Given the description of an element on the screen output the (x, y) to click on. 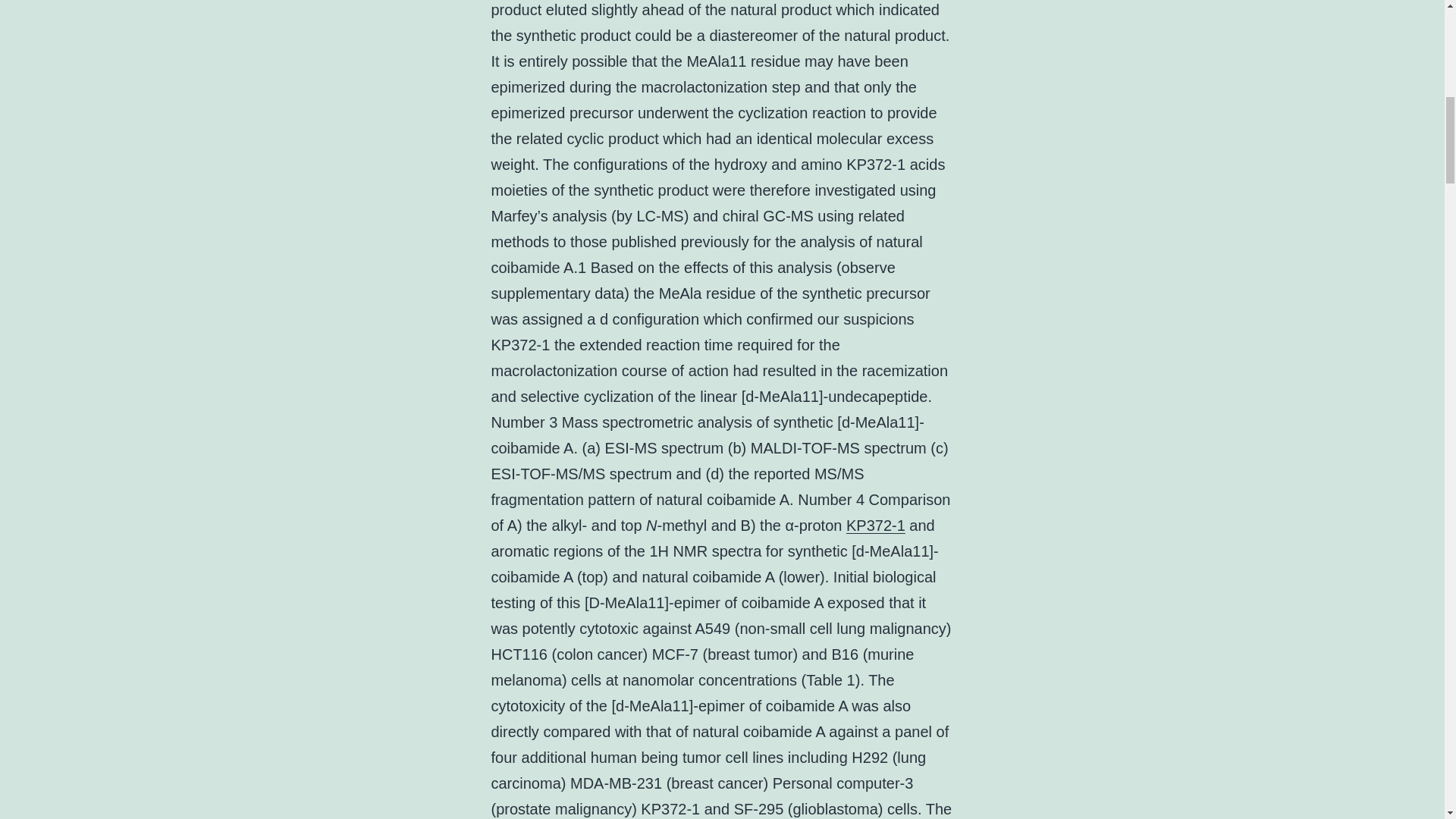
KP372-1 (875, 524)
